Given the description of an element on the screen output the (x, y) to click on. 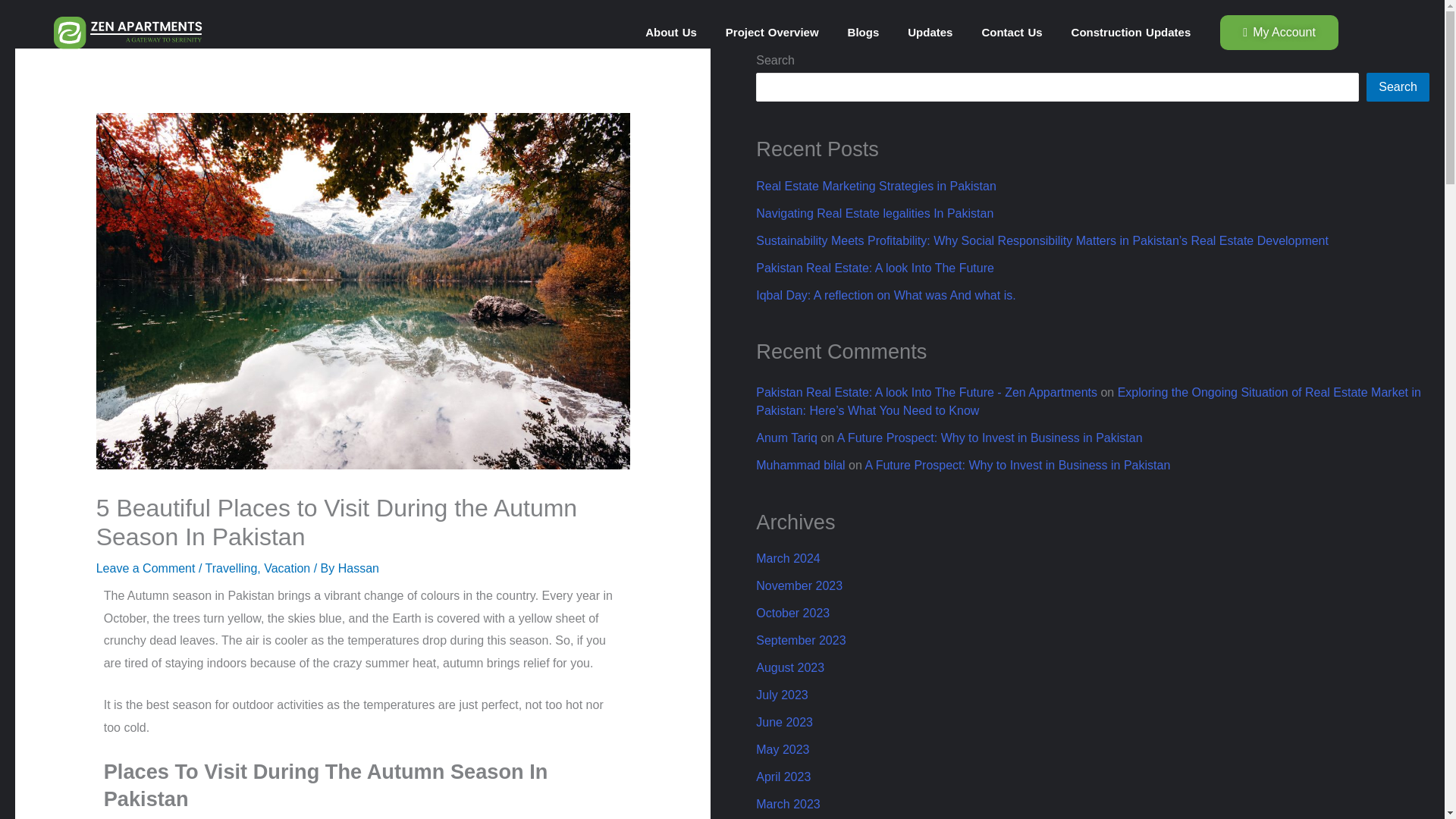
Leave a Comment (145, 567)
Blogs (862, 32)
Project Overview (771, 32)
Contact Us (1011, 32)
Updates (929, 32)
Construction Updates (1131, 32)
Travelling (231, 567)
About Us (670, 32)
My Account (1279, 32)
Hassan (357, 567)
